Given the description of an element on the screen output the (x, y) to click on. 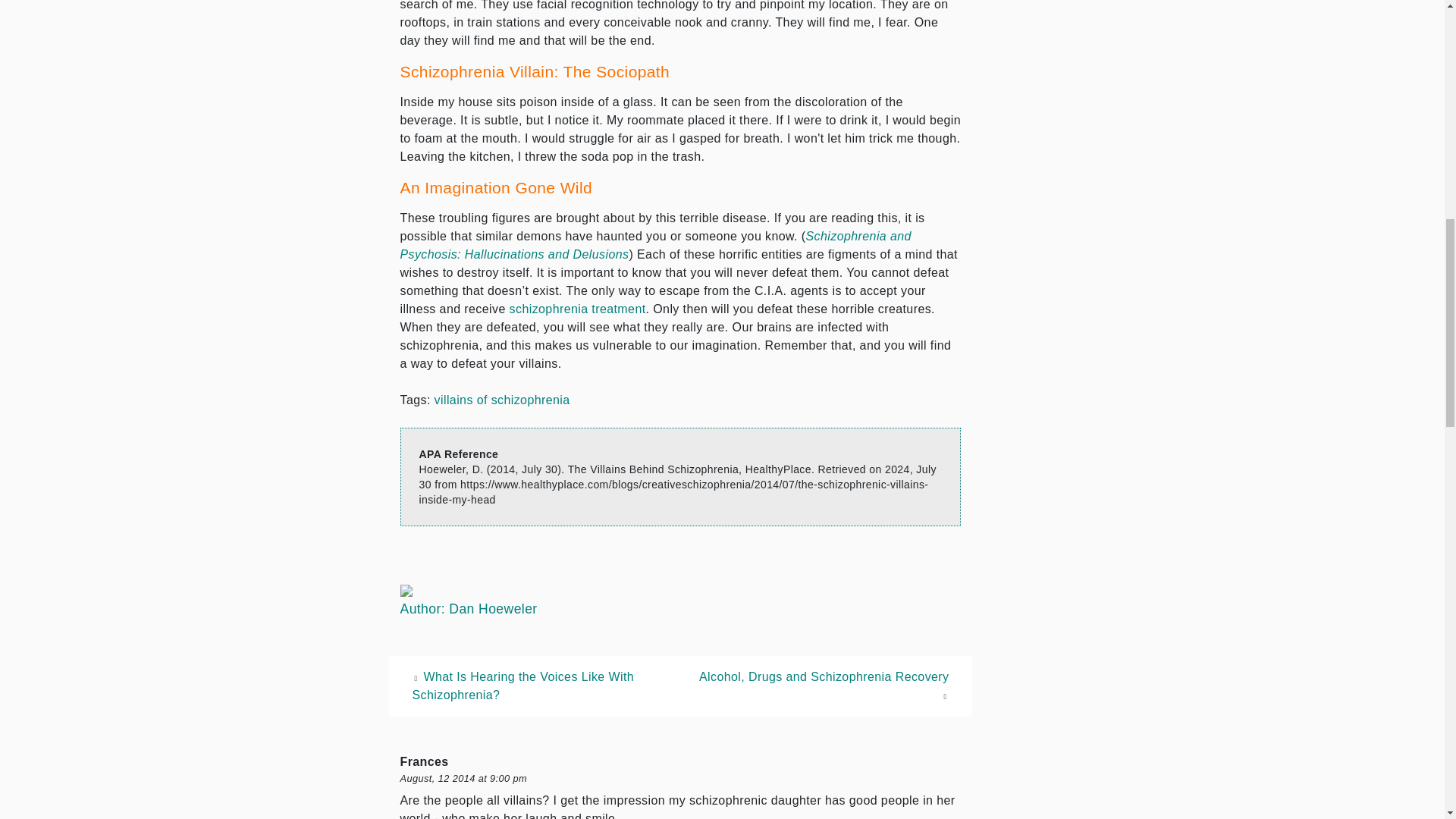
Schizophrenia and Psychosis: Hallucinations and Delusions (655, 245)
How Do You Treat Schizophrenia (577, 308)
